Given the description of an element on the screen output the (x, y) to click on. 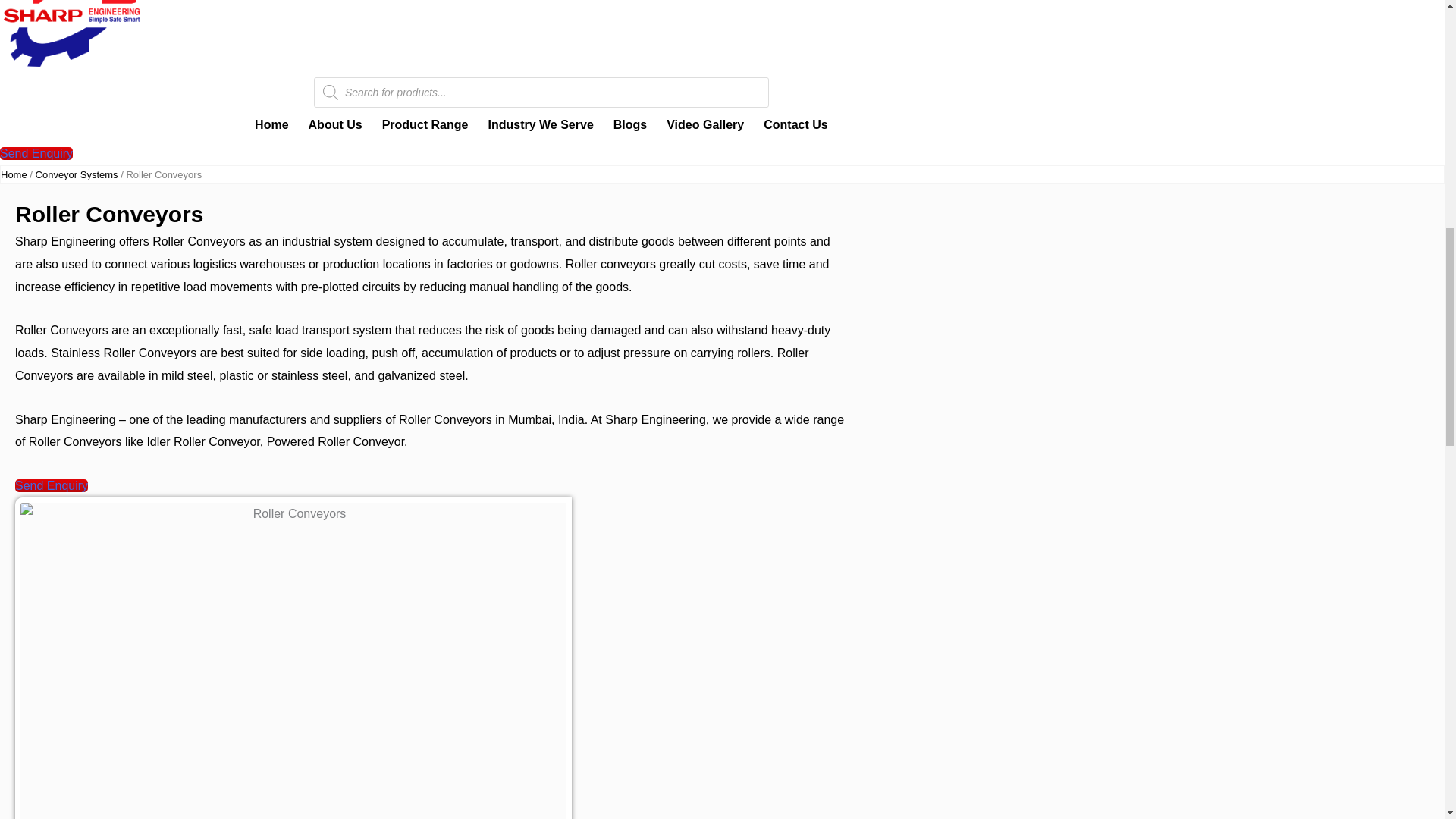
Product Range (425, 124)
Home (271, 124)
About Us (335, 124)
